Given the description of an element on the screen output the (x, y) to click on. 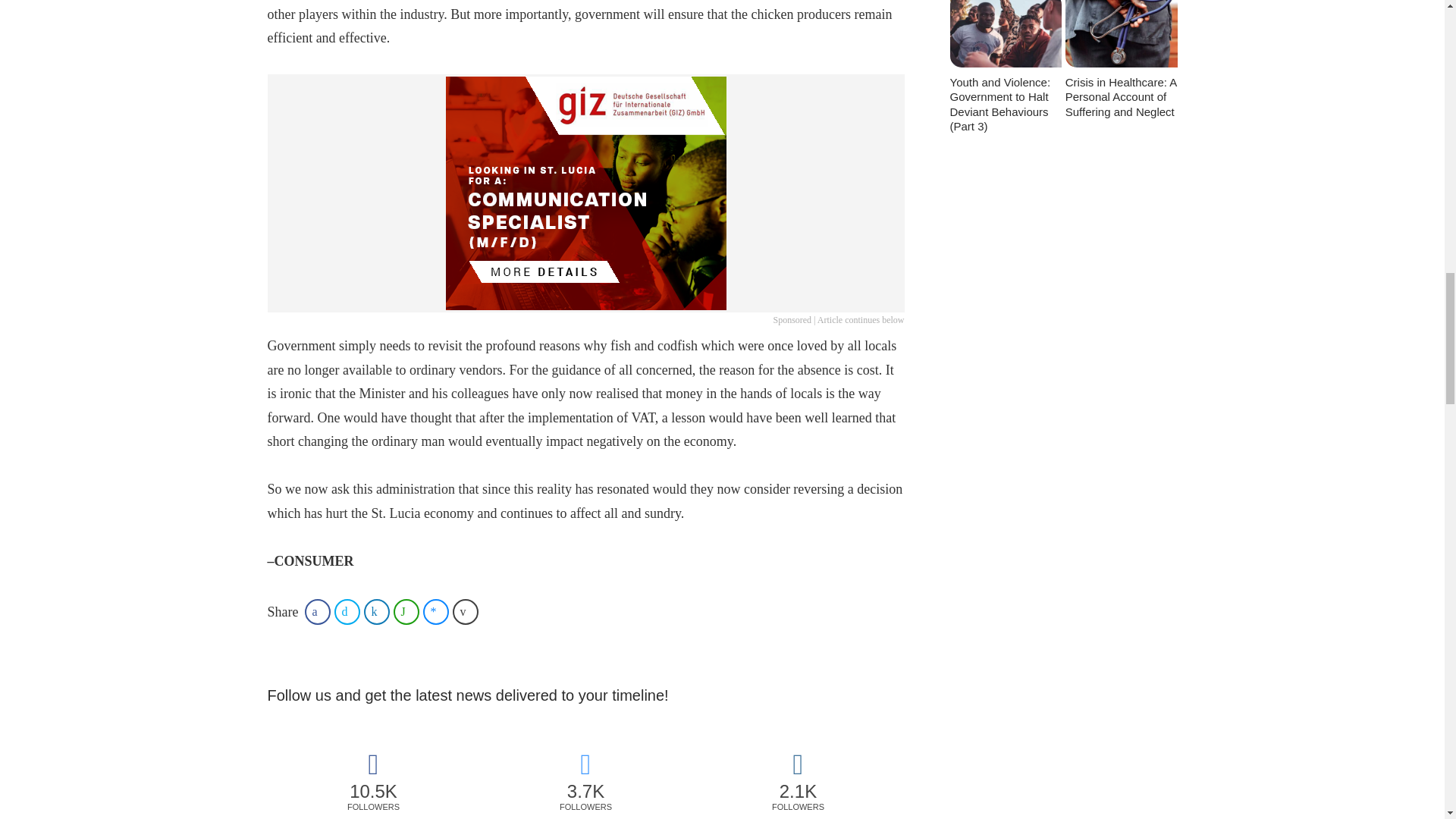
Share on Twitter (346, 611)
Share on Facebook (317, 611)
Share on Email (465, 611)
Share on Facebook Messenger (435, 611)
Share on WhatsApp (406, 611)
Share on LinkedIn (377, 611)
